Given the description of an element on the screen output the (x, y) to click on. 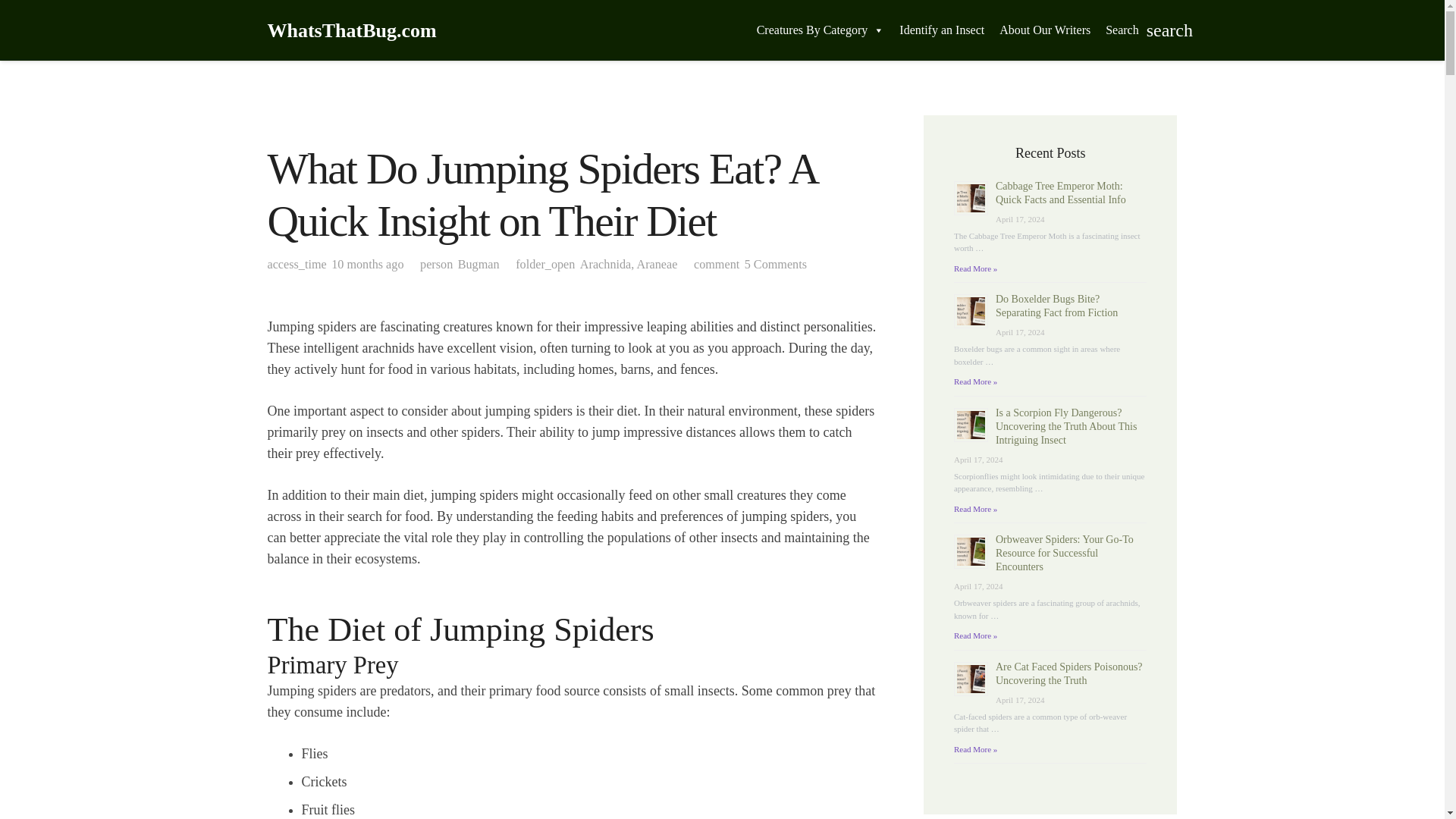
WhatsThatBug.com (350, 30)
5 Comments (775, 264)
Creatures By Category (820, 30)
